Given the description of an element on the screen output the (x, y) to click on. 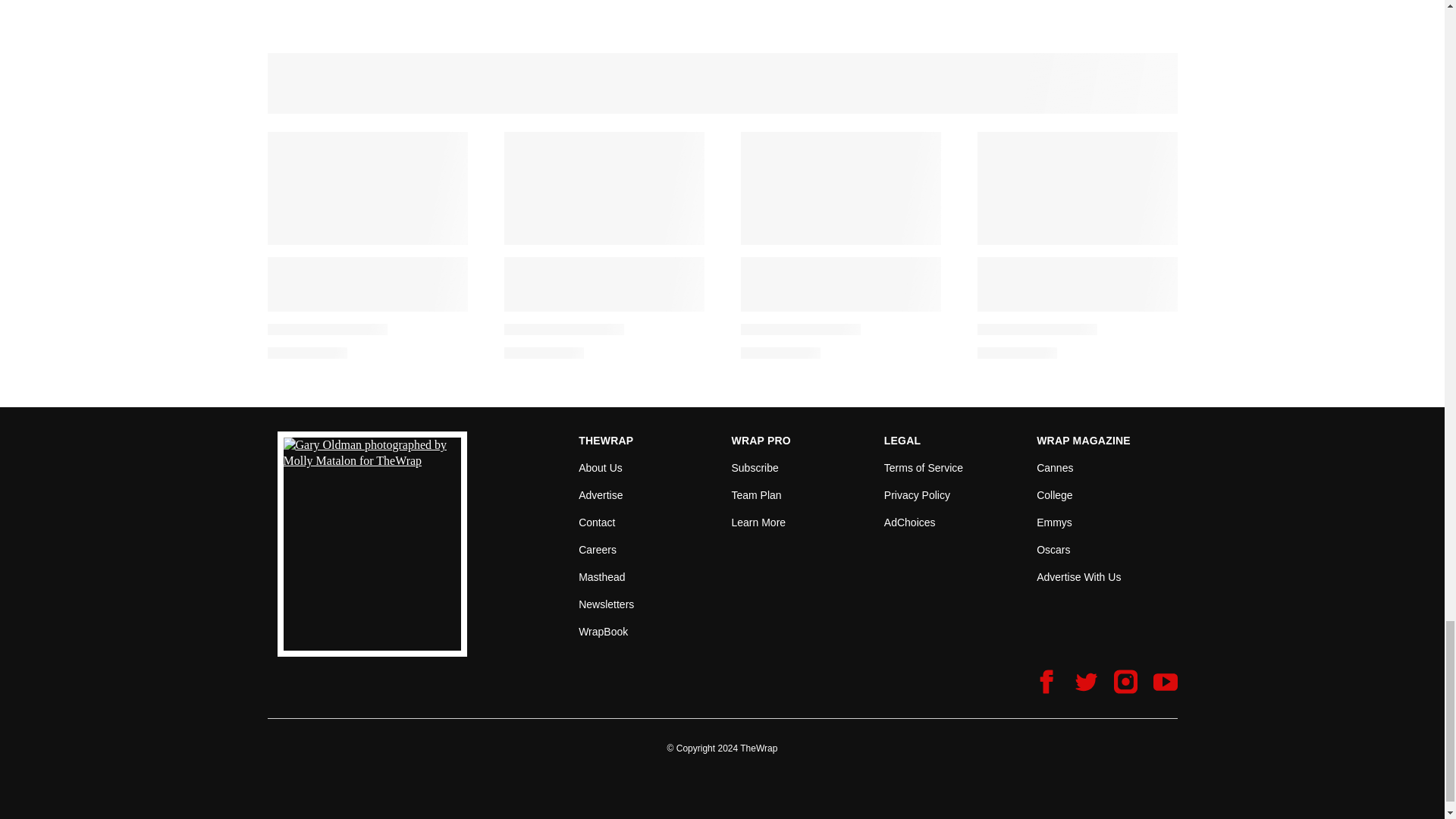
Learn more about becoming a member (758, 522)
